Given the description of an element on the screen output the (x, y) to click on. 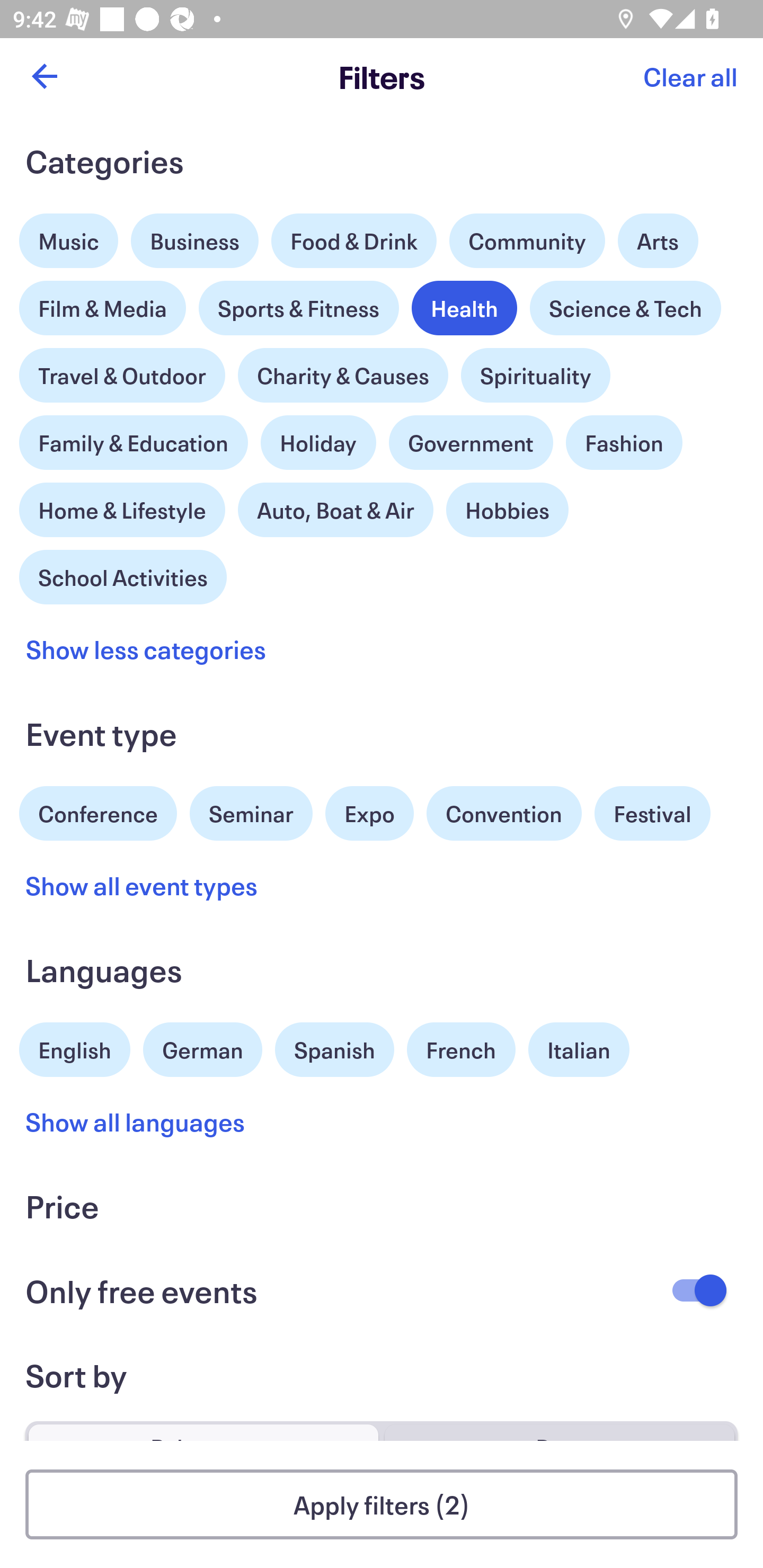
Back button (44, 75)
Clear all (690, 75)
Music (68, 235)
Business (194, 240)
Food & Drink (353, 240)
Community (527, 240)
Arts (658, 235)
Film & Media (102, 303)
Sports & Fitness (298, 307)
Health (464, 307)
Science & Tech (625, 307)
Travel & Outdoor (122, 370)
Charity & Causes (343, 375)
Spirituality (535, 375)
Family & Education (133, 442)
Holiday (318, 437)
Government (471, 442)
Fashion (624, 442)
Home & Lifestyle (122, 505)
Auto, Boat & Air (335, 509)
Hobbies (507, 509)
School Activities (122, 575)
Show less categories (145, 648)
Conference (98, 811)
Seminar (250, 813)
Expo (369, 813)
Convention (503, 813)
Festival (652, 813)
Show all event types (141, 884)
English (74, 1047)
German (202, 1047)
Spanish (334, 1049)
French (460, 1049)
Italian (578, 1049)
Show all languages (135, 1121)
Relevance (203, 1424)
Date (559, 1424)
Apply filters (2) (381, 1504)
